Given the description of an element on the screen output the (x, y) to click on. 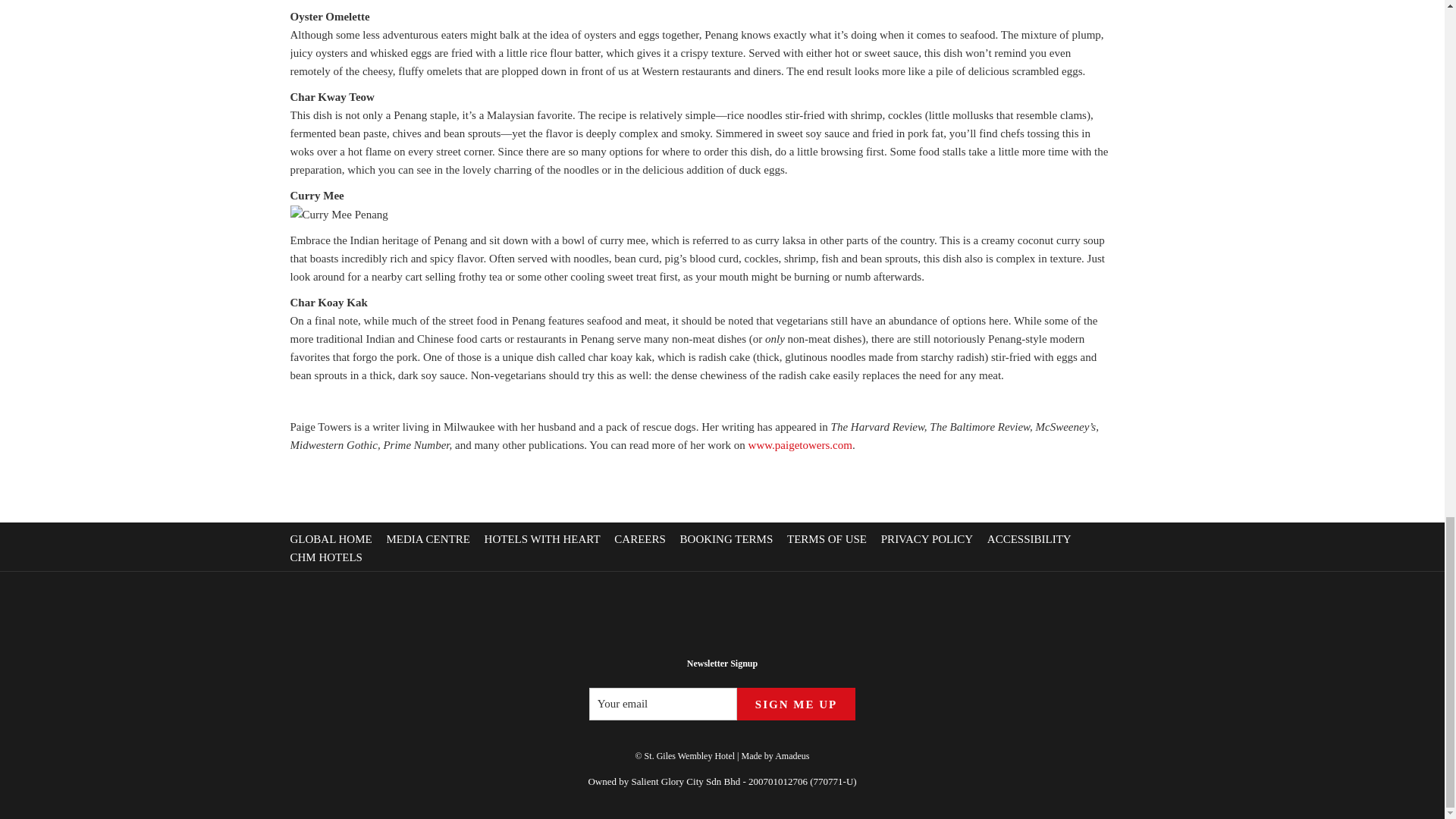
HOTELS WITH HEART (544, 539)
CAREERS (641, 539)
MEDIA CENTRE (429, 539)
www.paigetowers.com (799, 444)
Amadeus (791, 756)
PRIVACY POLICY (928, 539)
BOOKING TERMS (728, 539)
SIGN ME UP (796, 703)
TERMS OF USE (828, 539)
ACCESSIBILITY (1031, 539)
